Given the description of an element on the screen output the (x, y) to click on. 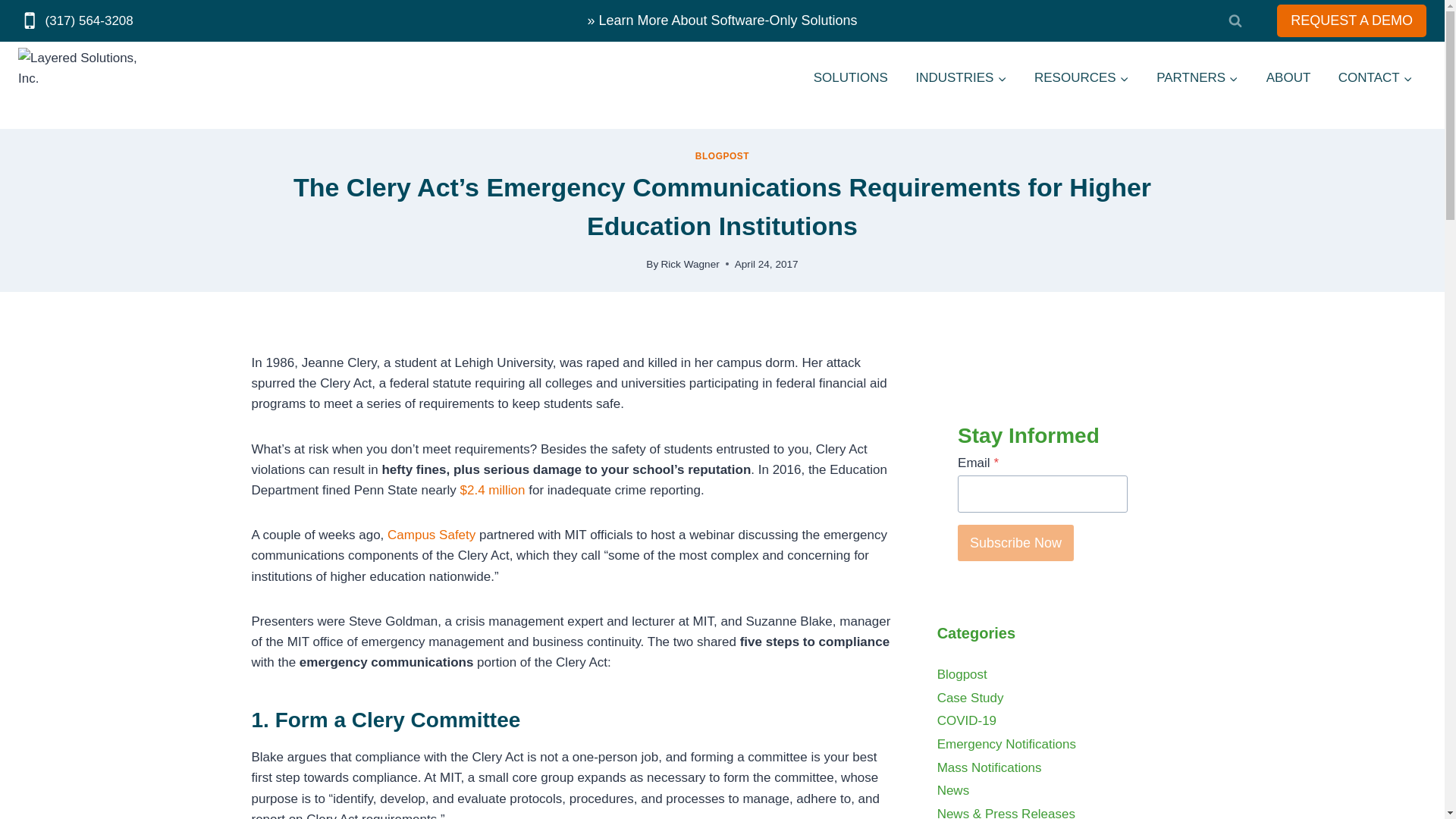
BLOGPOST (722, 155)
REQUEST A DEMO (1351, 20)
SOLUTIONS (850, 77)
RESOURCES (1081, 77)
PARTNERS (1197, 77)
ABOUT (1287, 77)
Campus Safety (431, 534)
CONTACT (1375, 77)
INDUSTRIES (960, 77)
Rick Wagner (690, 264)
